Given the description of an element on the screen output the (x, y) to click on. 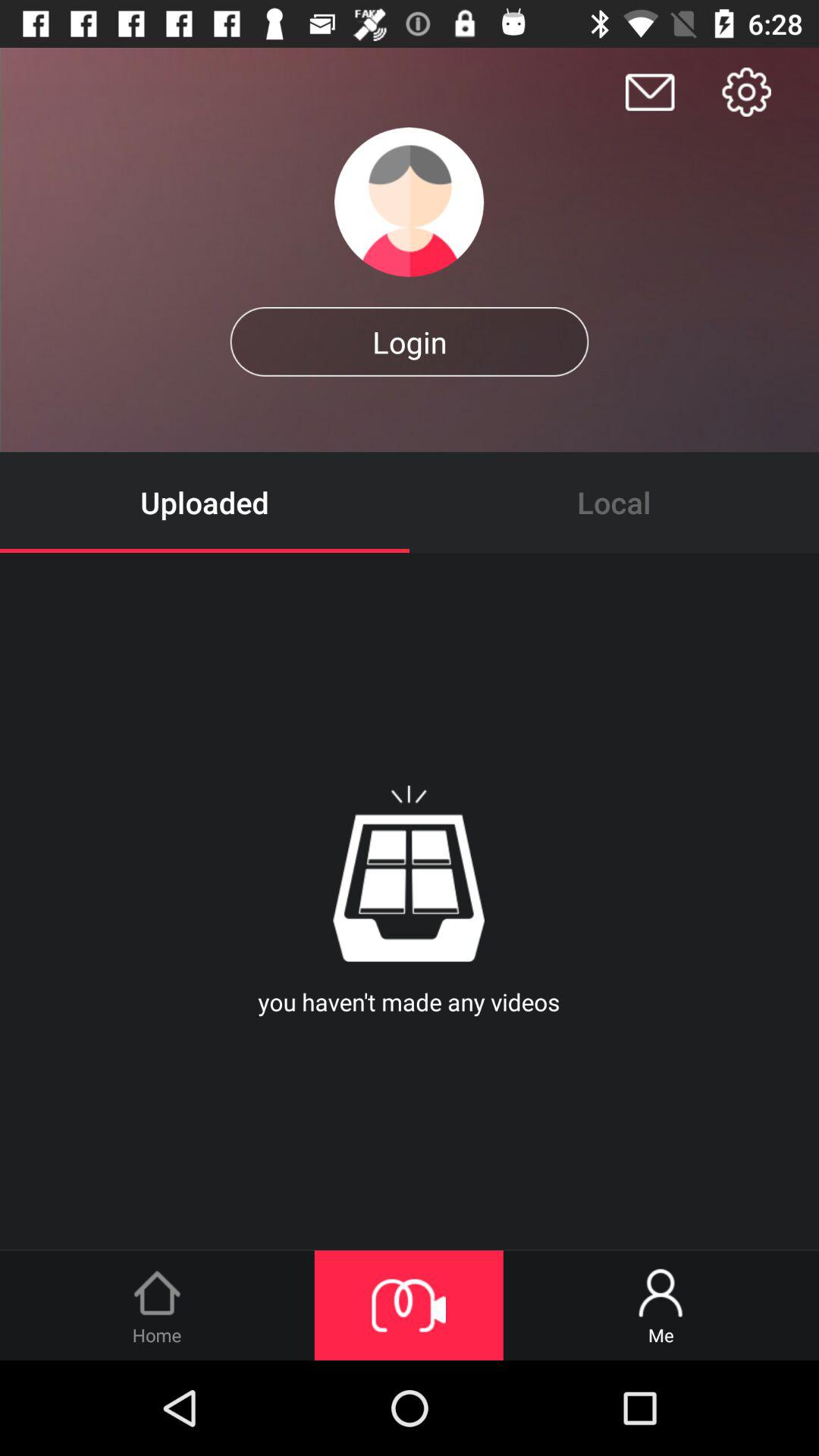
settings for app (746, 91)
